Given the description of an element on the screen output the (x, y) to click on. 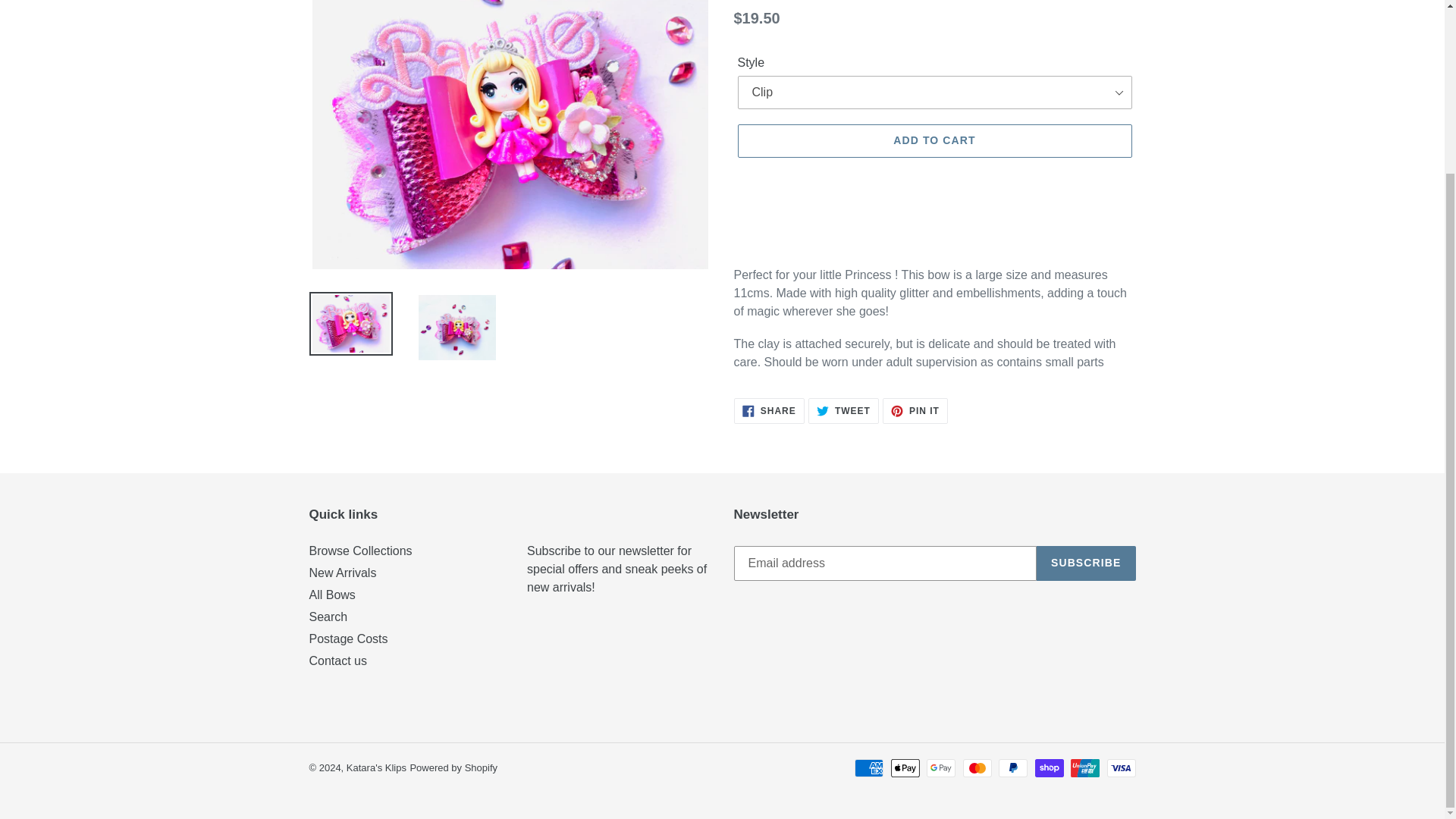
Browse Collections (360, 550)
Search (769, 411)
Katara's Klips (327, 616)
SUBSCRIBE (376, 767)
Contact us (1085, 563)
Postage Costs (337, 660)
ADD TO CART (843, 411)
